Given the description of an element on the screen output the (x, y) to click on. 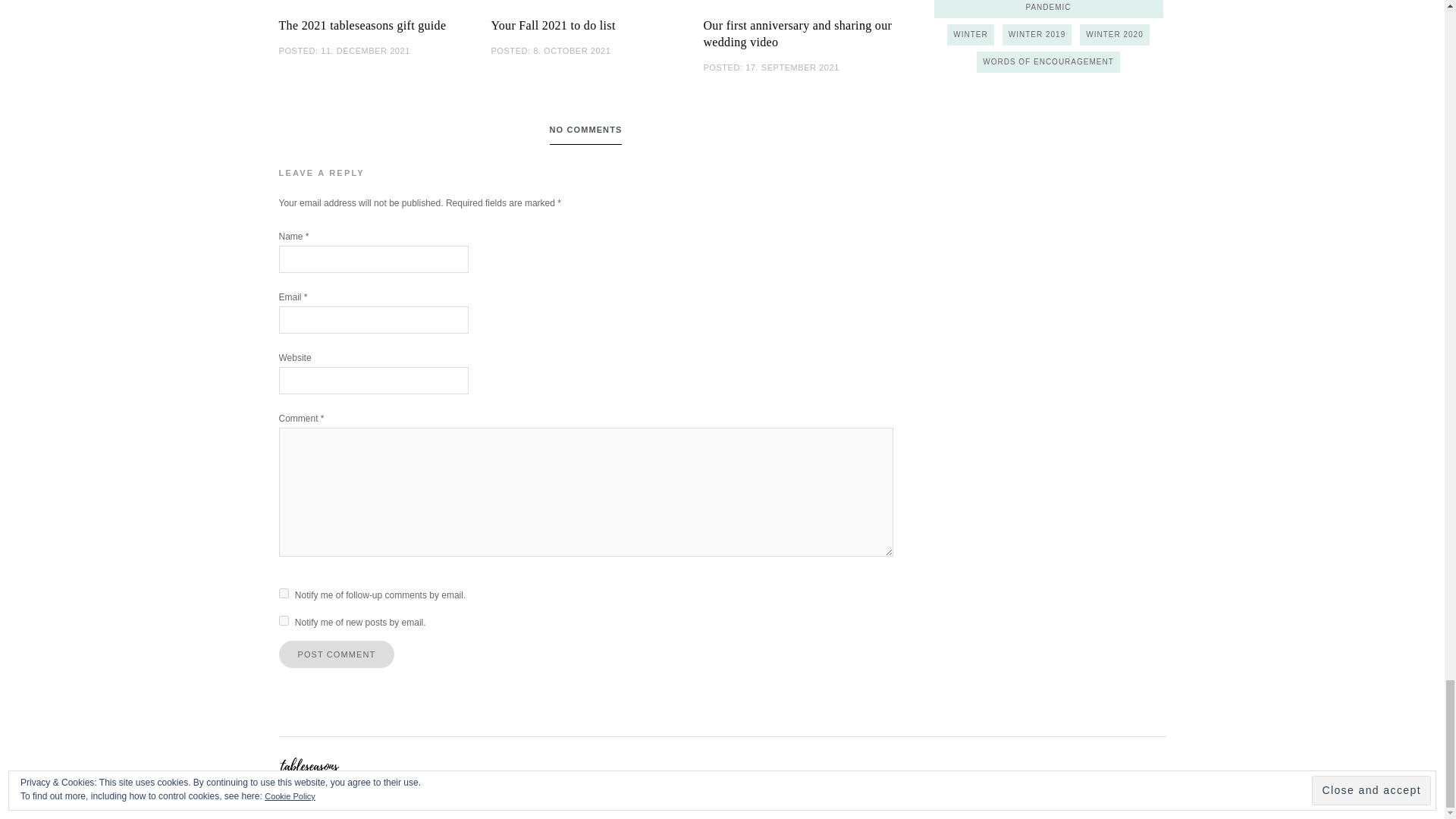
Post Comment (336, 654)
subscribe (283, 620)
subscribe (283, 593)
